Given the description of an element on the screen output the (x, y) to click on. 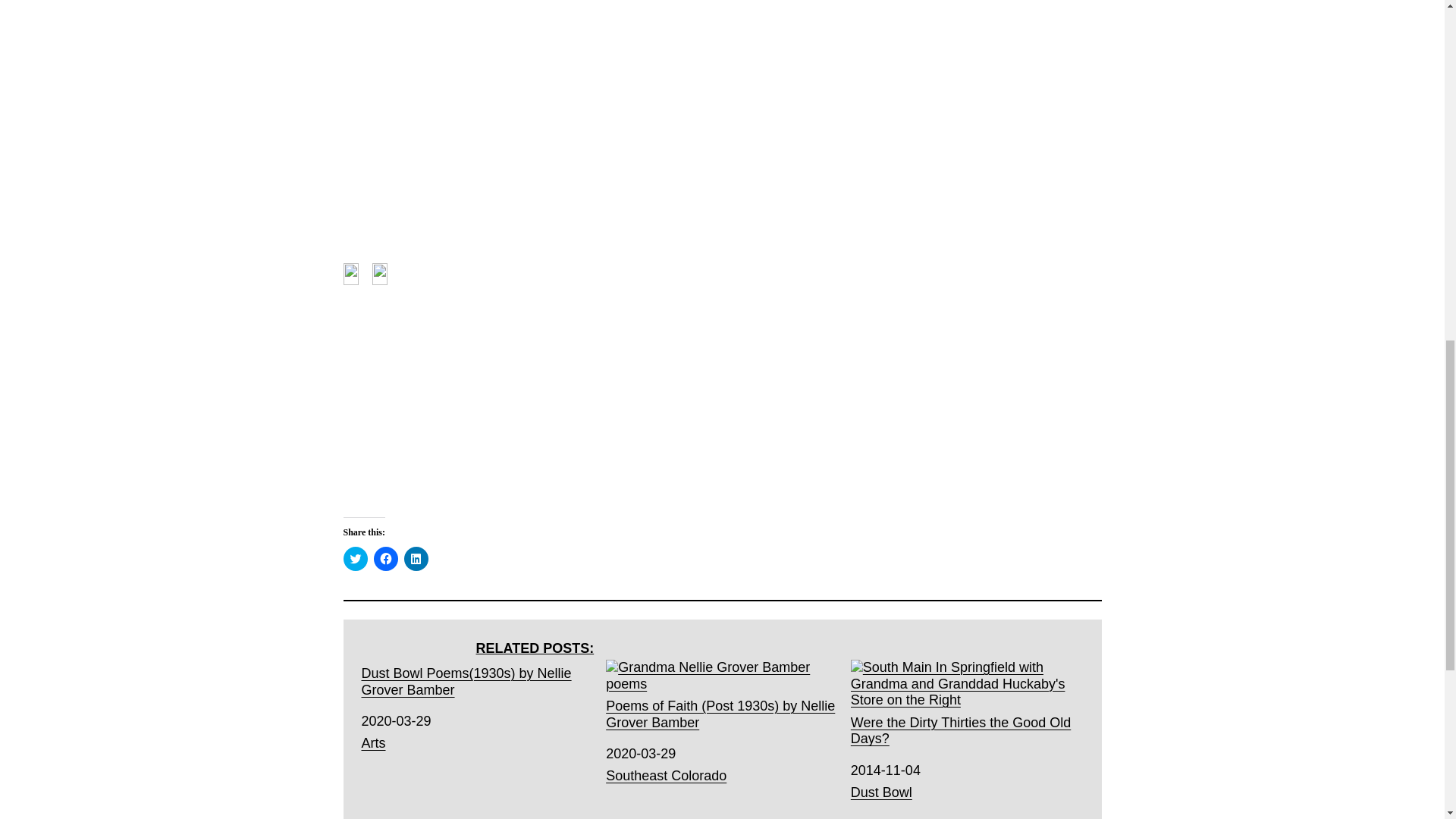
Arts (373, 743)
Click to share on Twitter (354, 558)
Dust Bowl (881, 792)
Southeast Colorado (665, 775)
Click to share on LinkedIn (415, 558)
Were the Dirty Thirties the Good Old Days? (966, 703)
Click to share on Facebook (384, 558)
